Given the description of an element on the screen output the (x, y) to click on. 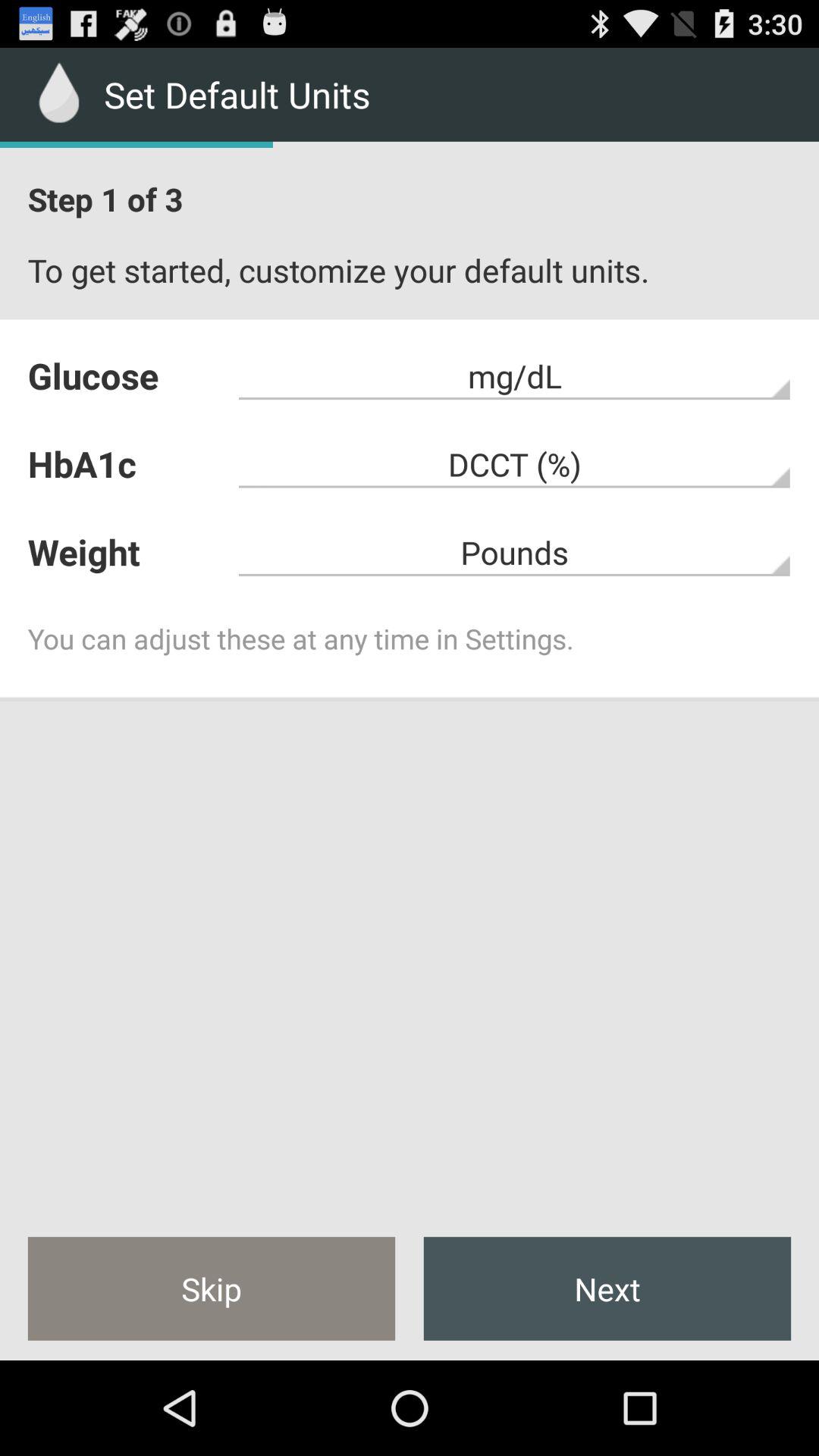
choose app above the weight icon (514, 463)
